Given the description of an element on the screen output the (x, y) to click on. 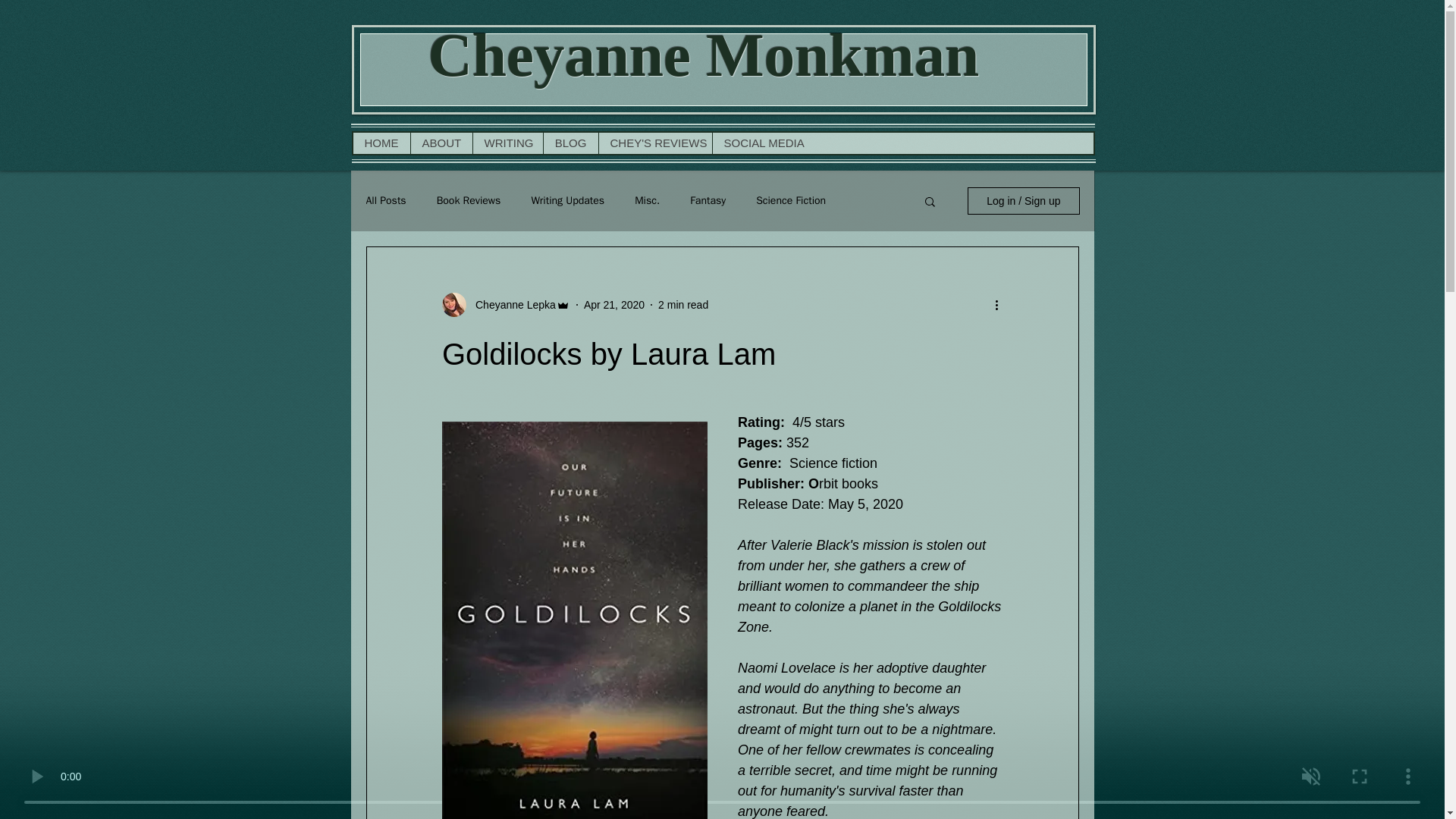
WRITING (506, 142)
ABOUT (440, 142)
CHEY'S REVIEWS (653, 142)
Cheyanne Monkman (703, 55)
Science Fiction (790, 201)
All Posts (385, 201)
Writing Updates (567, 201)
2 min read (682, 304)
Cheyanne Lepka (510, 304)
HOME (381, 142)
BLOG (570, 142)
Apr 21, 2020 (614, 304)
Fantasy (707, 201)
Misc. (646, 201)
SOCIAL MEDIA (762, 142)
